Given the description of an element on the screen output the (x, y) to click on. 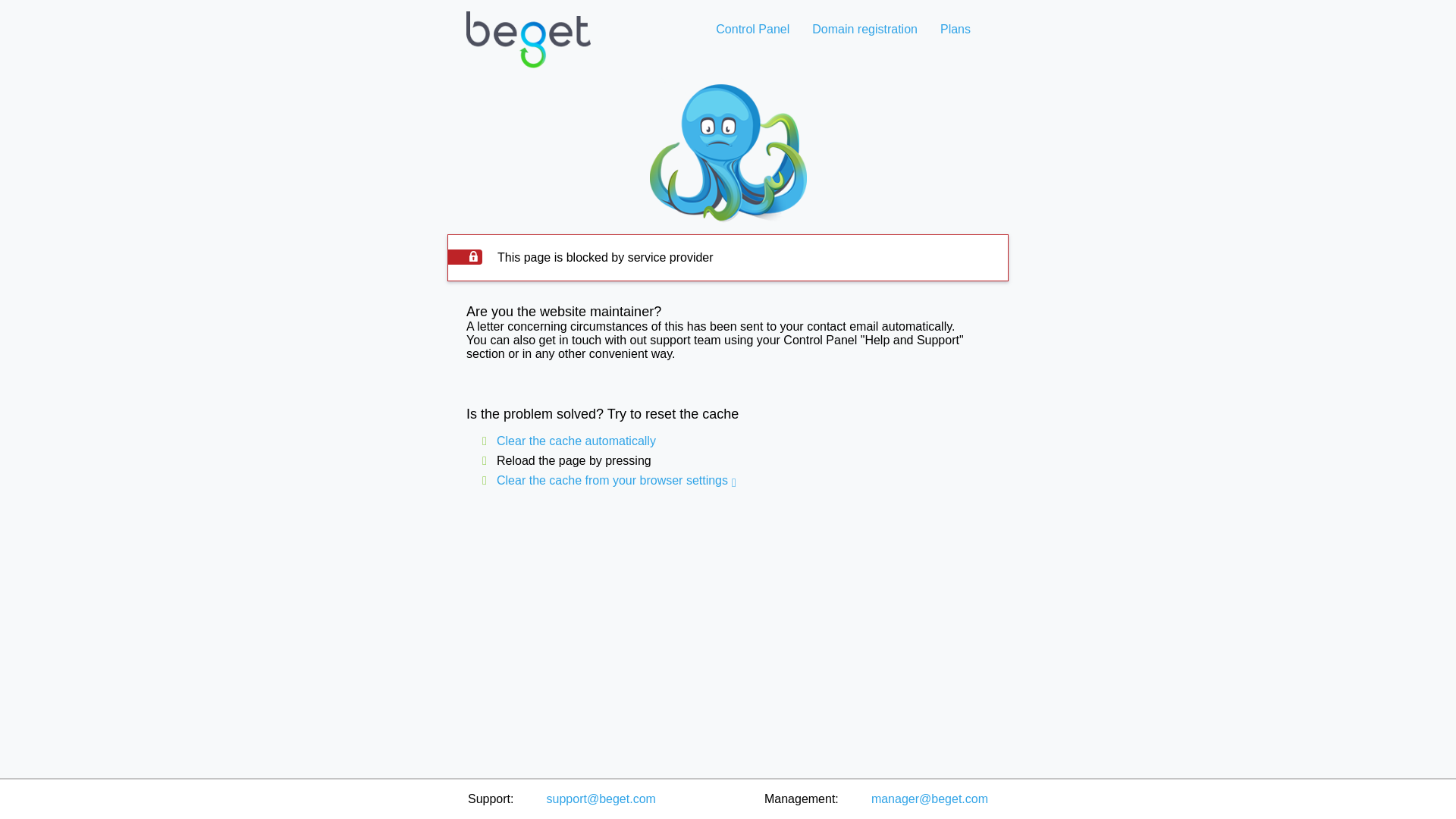
Plans (954, 29)
Control Panel (752, 29)
Web hosting home page (528, 51)
Domain registration (864, 29)
Clear the cache from your browser settings (612, 480)
Clear the cache automatically (576, 440)
